Given the description of an element on the screen output the (x, y) to click on. 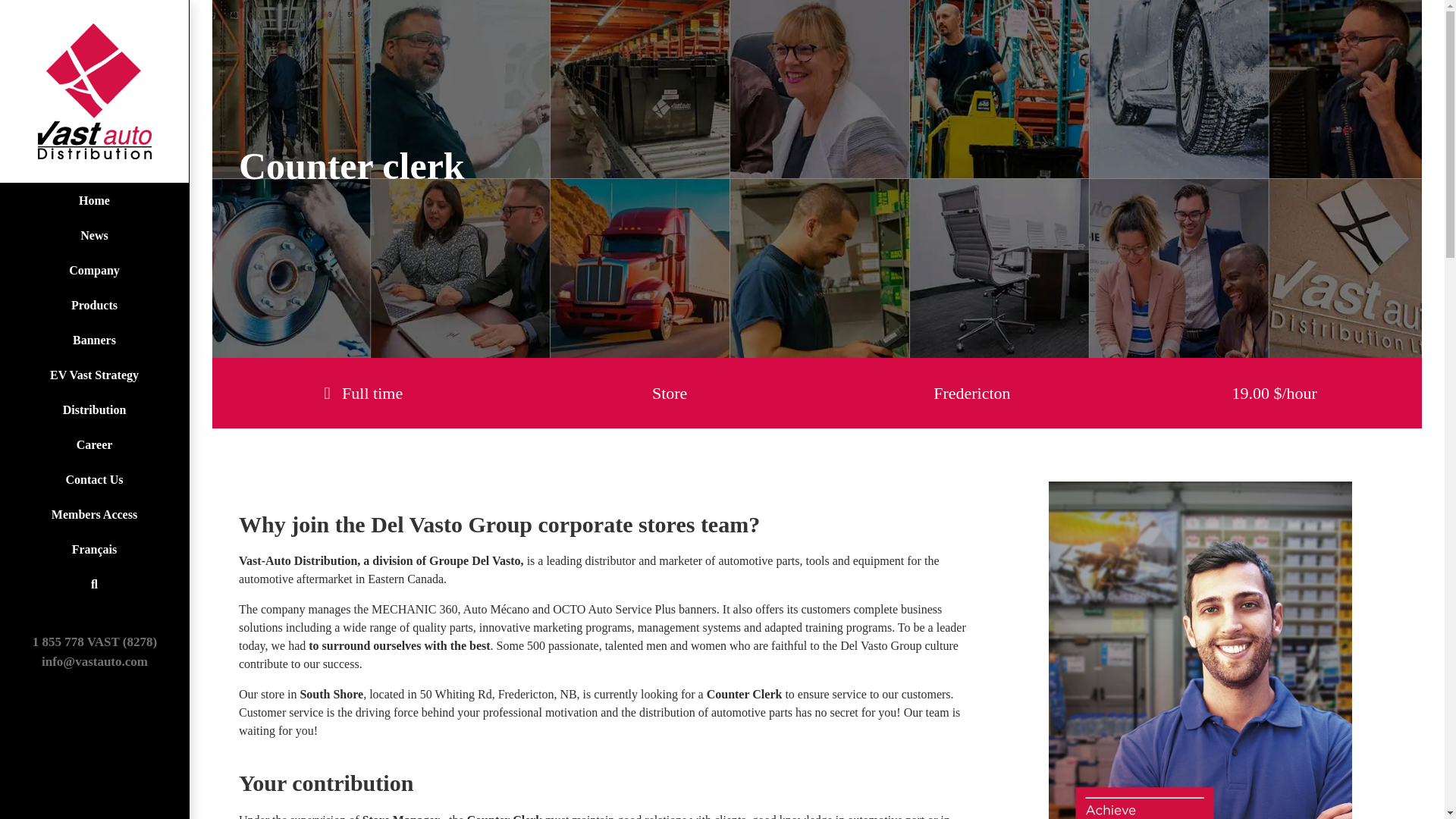
Distribution (94, 410)
EV Vast Strategy (94, 375)
Company (94, 270)
Products (94, 305)
Banners (94, 339)
Home (94, 200)
Contact Us (94, 479)
Search (94, 584)
Members Access (94, 514)
Career (94, 444)
News (94, 235)
